Given the description of an element on the screen output the (x, y) to click on. 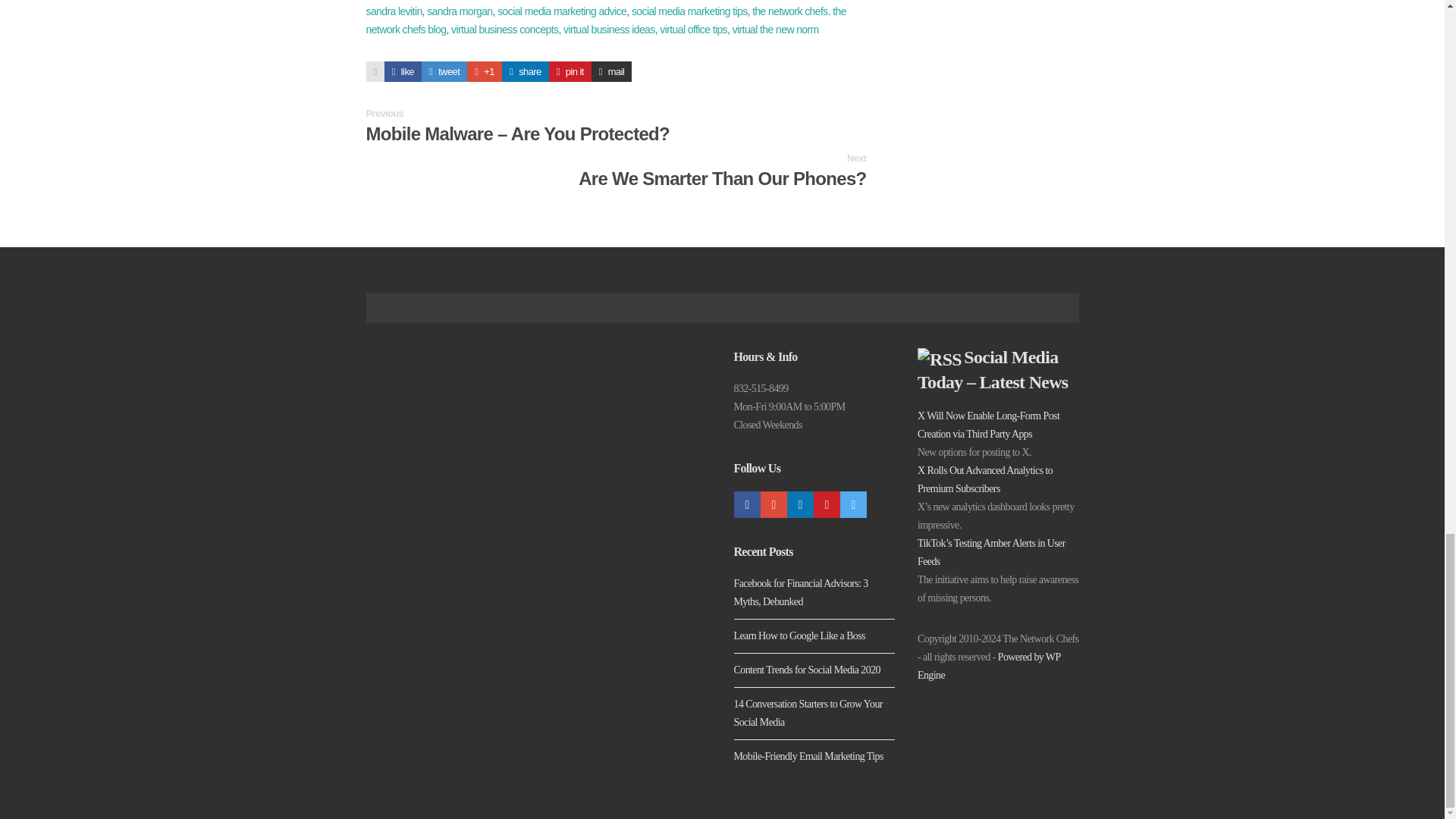
sandra morgan (459, 10)
social media marketing tips (689, 10)
sandra levitin (393, 10)
social media marketing advice (561, 10)
